Given the description of an element on the screen output the (x, y) to click on. 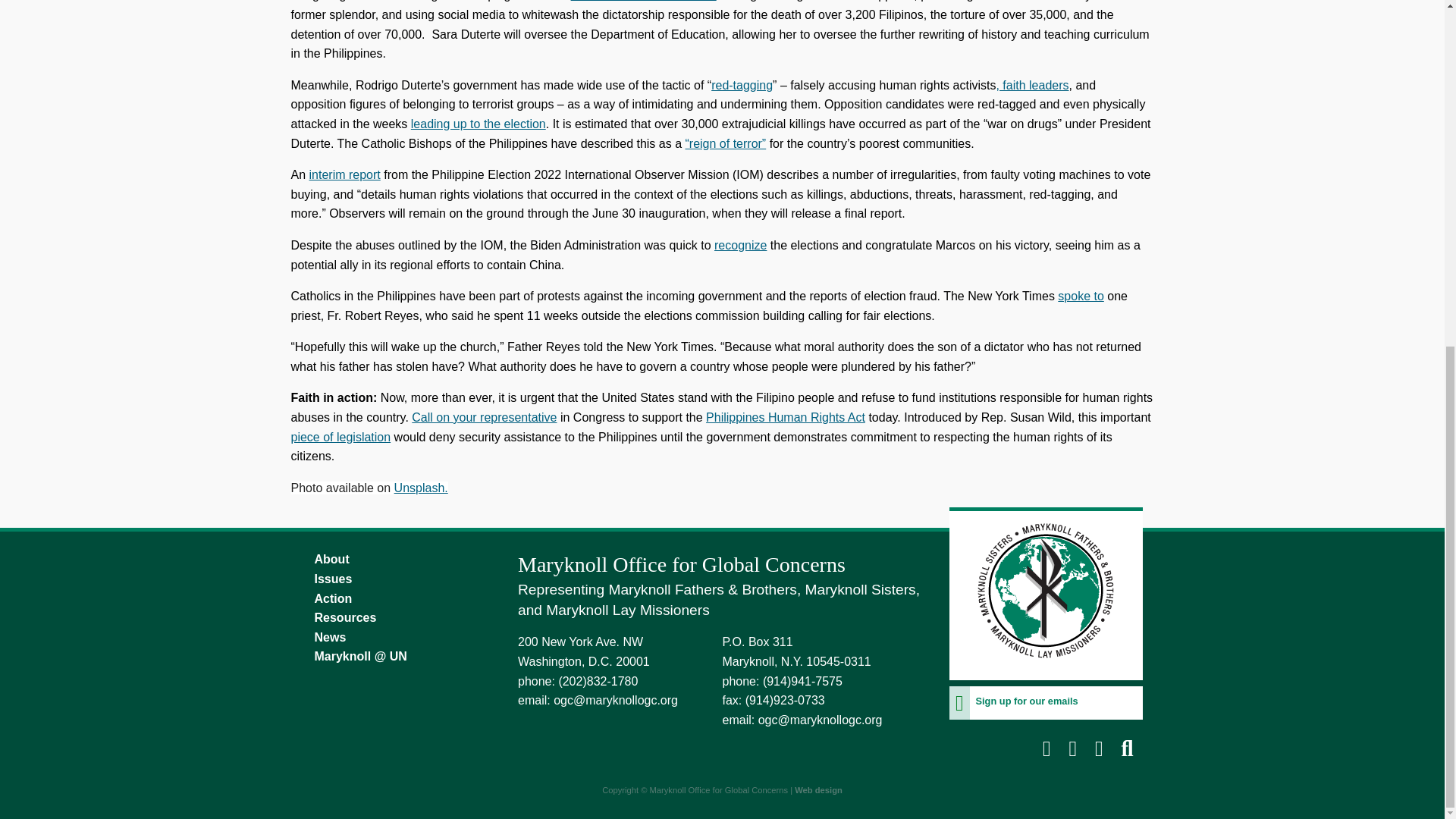
Nonprofit web design (818, 789)
red-tagging (742, 84)
Maryknoll Office for Global Concerns homepage (1045, 669)
martial law under his father (643, 0)
